Given the description of an element on the screen output the (x, y) to click on. 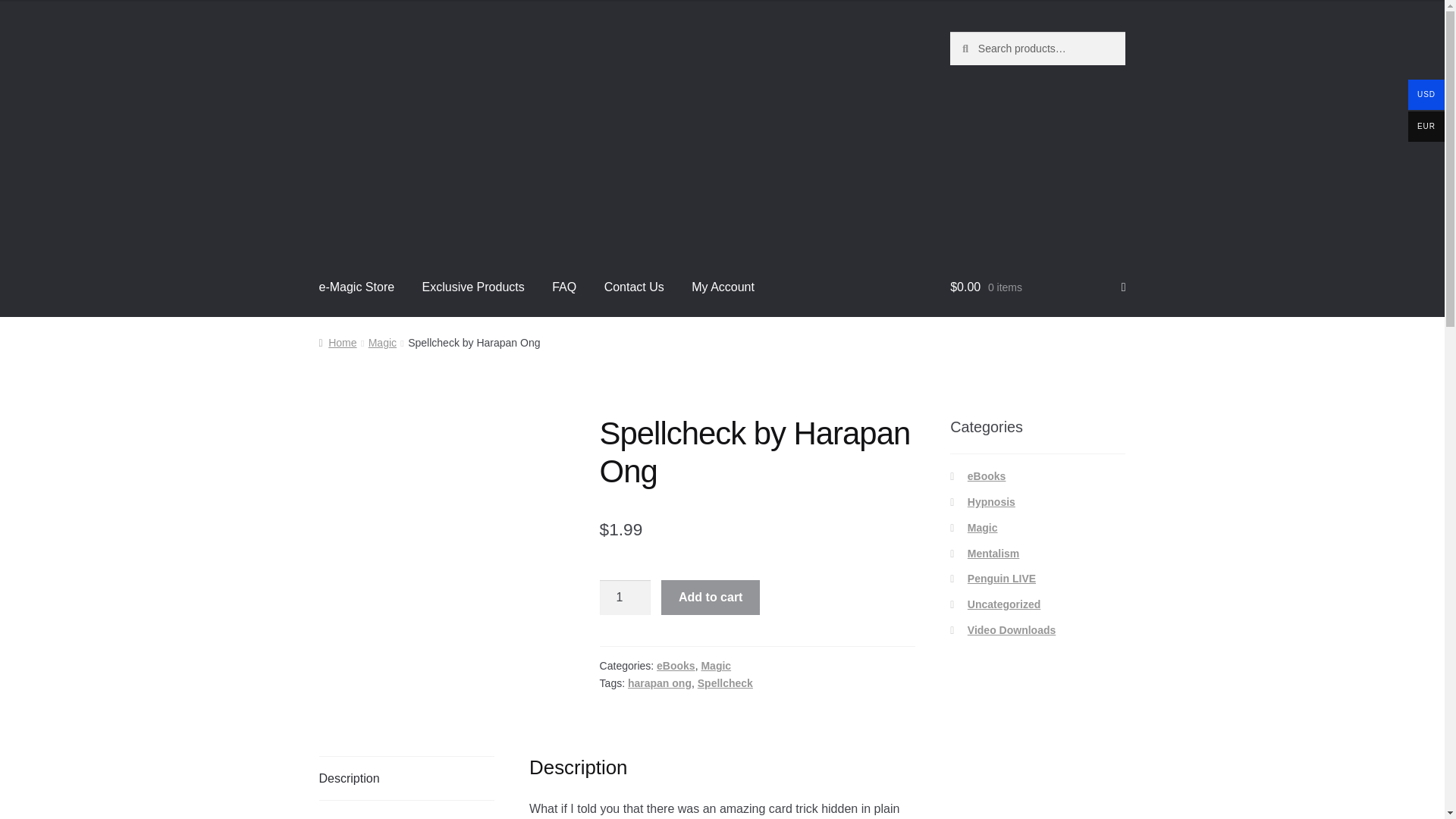
Add to cart (710, 597)
Description (406, 778)
Hypnosis (991, 501)
Spellcheck (724, 683)
harapan ong (659, 683)
Penguin LIVE (1001, 578)
eBooks (675, 665)
My Account (723, 286)
Magic (982, 527)
Mentalism (993, 553)
1 (624, 597)
Exclusive Products (473, 286)
e-Magic Store (357, 286)
View your shopping cart (1037, 286)
